Given the description of an element on the screen output the (x, y) to click on. 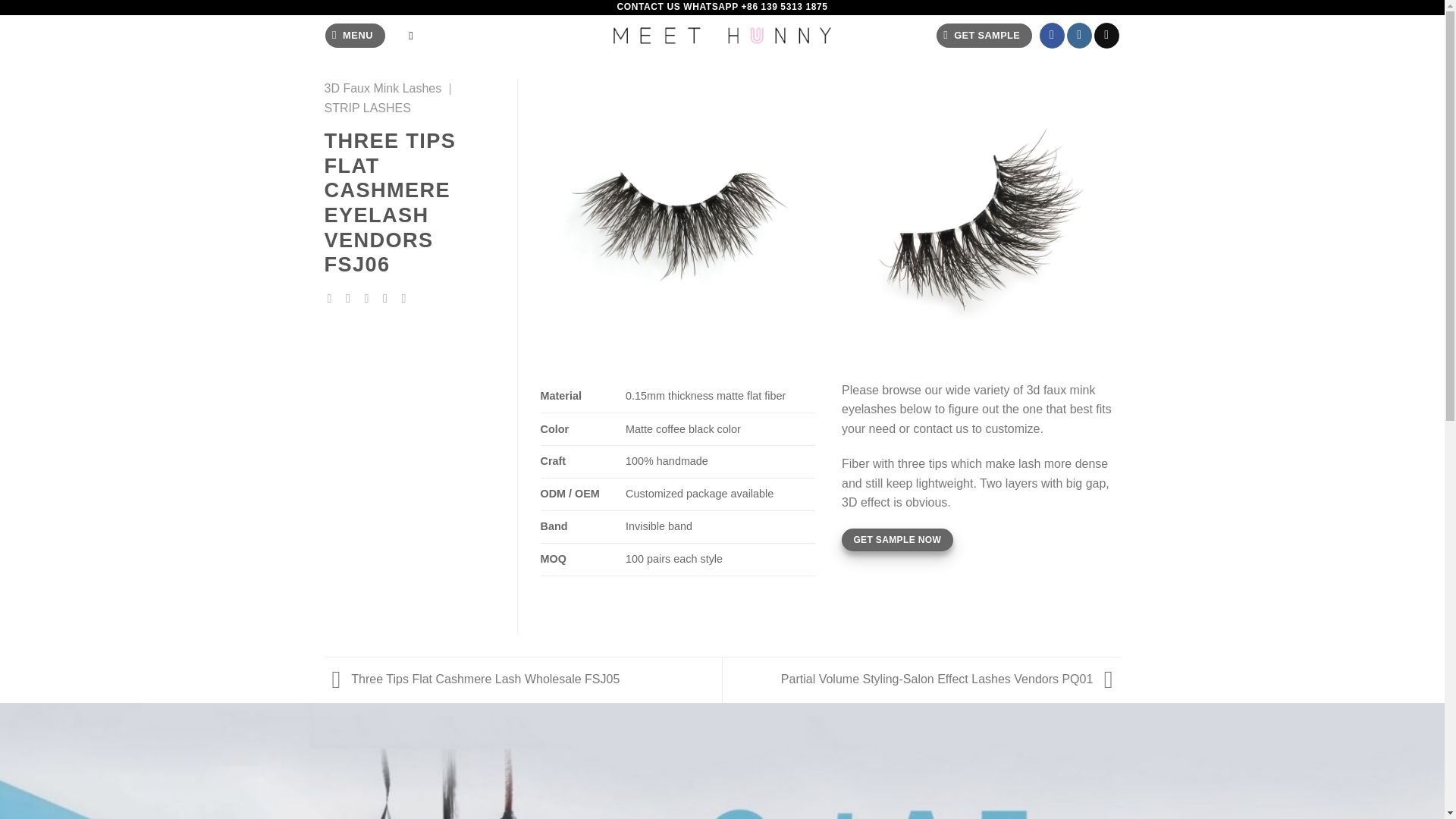
Email to a Friend (371, 297)
STRIP LASHES (367, 107)
Share on Facebook (333, 297)
MENU (354, 35)
Share on Twitter (352, 297)
Partial Volume Styling-Salon Effect Lashes Vendors PQ01 (950, 678)
Follow on Facebook (1051, 35)
Sign up for Newsletter (983, 35)
GET SAMPLE NOW (897, 540)
Three Tips Flat Cashmere Lash Wholesale FSJ05 (472, 678)
Partial Volume Styling-Salon Effect Lashes Vendors PQ01 (950, 678)
GET SAMPLE (983, 35)
Pin on Pinterest (388, 297)
Share on LinkedIn (407, 297)
Follow on Instagram (1079, 35)
